Given the description of an element on the screen output the (x, y) to click on. 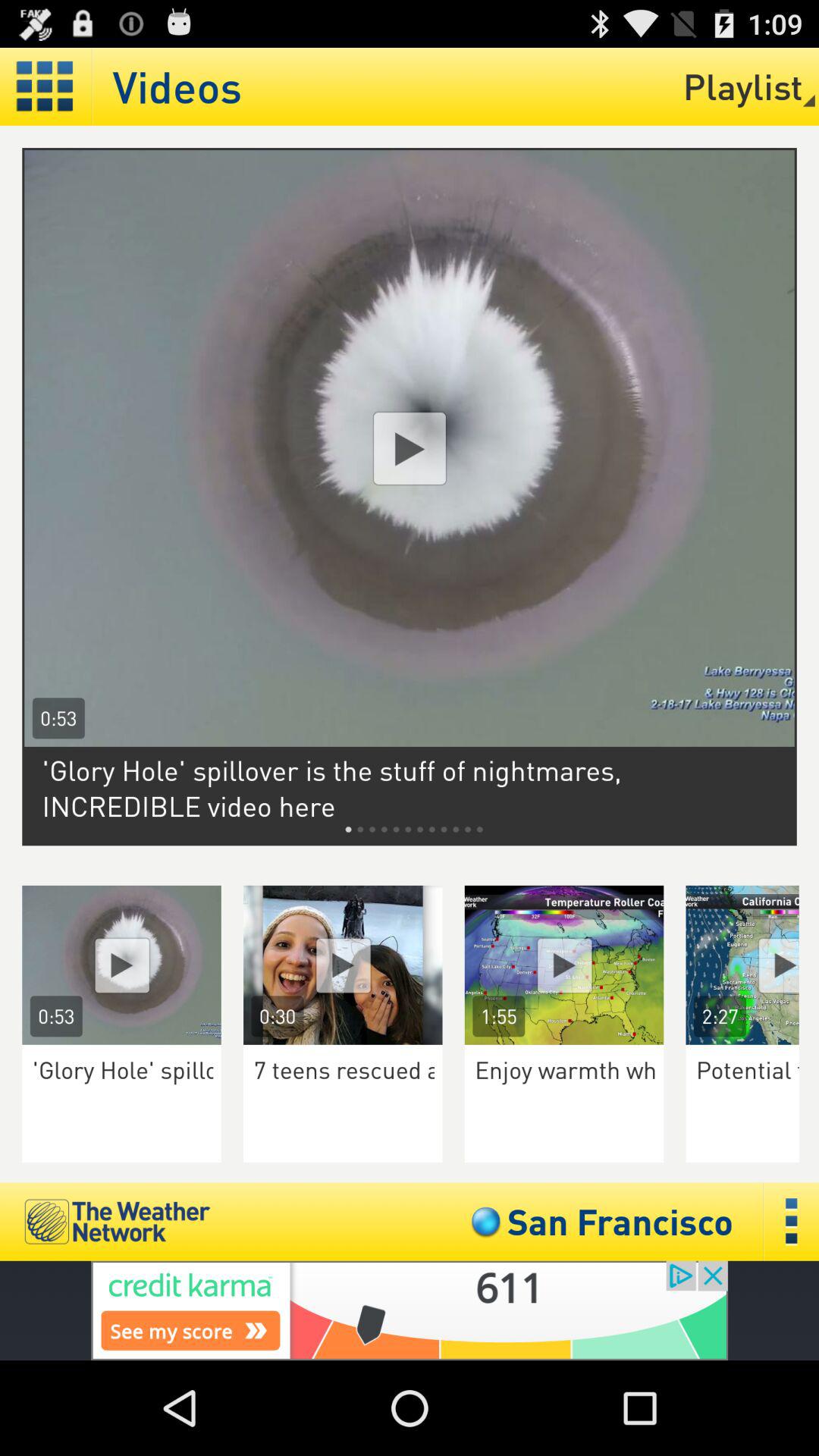
toggle video menu (45, 86)
